Given the description of an element on the screen output the (x, y) to click on. 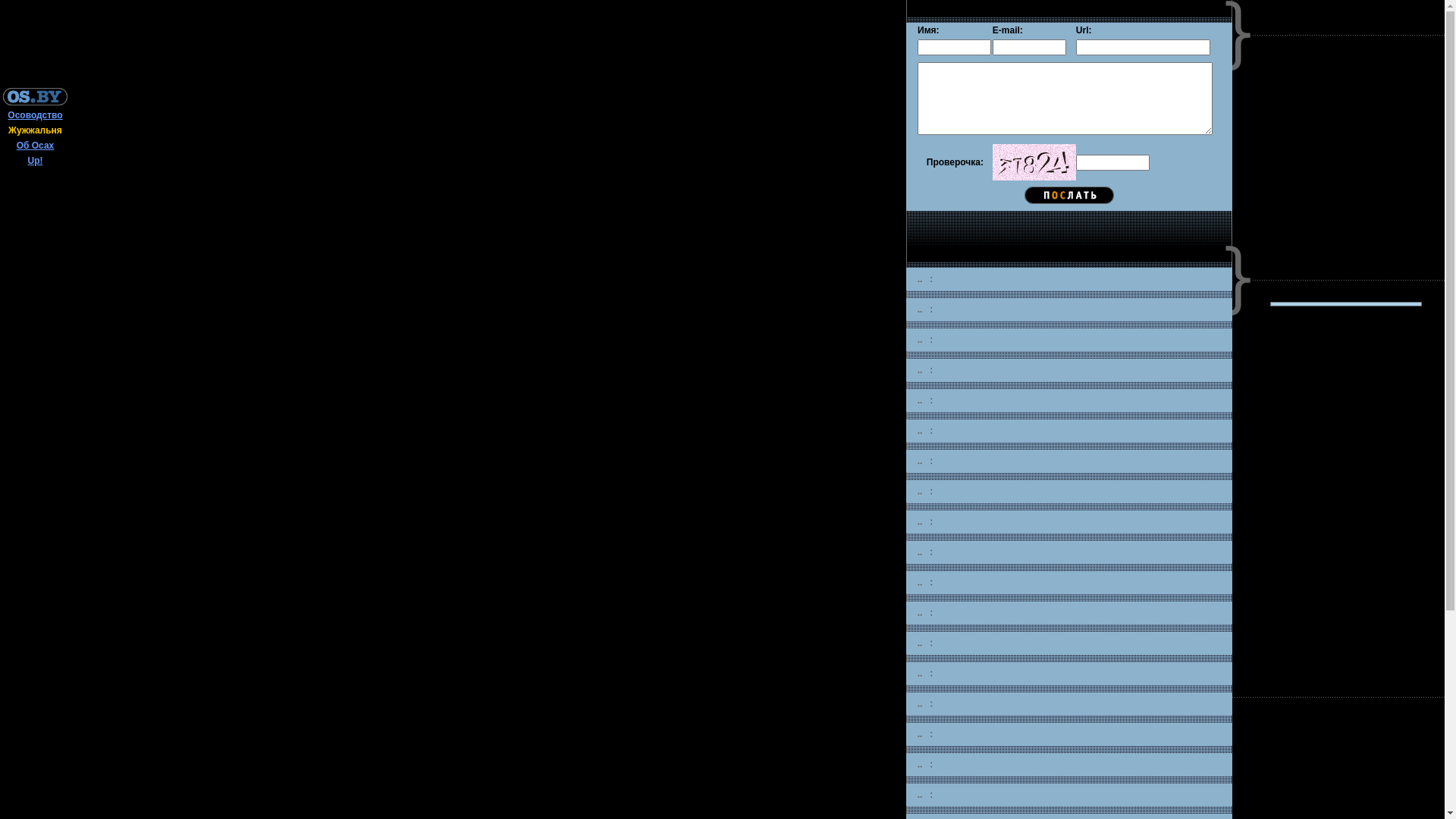
Up! Element type: text (34, 160)
